Given the description of an element on the screen output the (x, y) to click on. 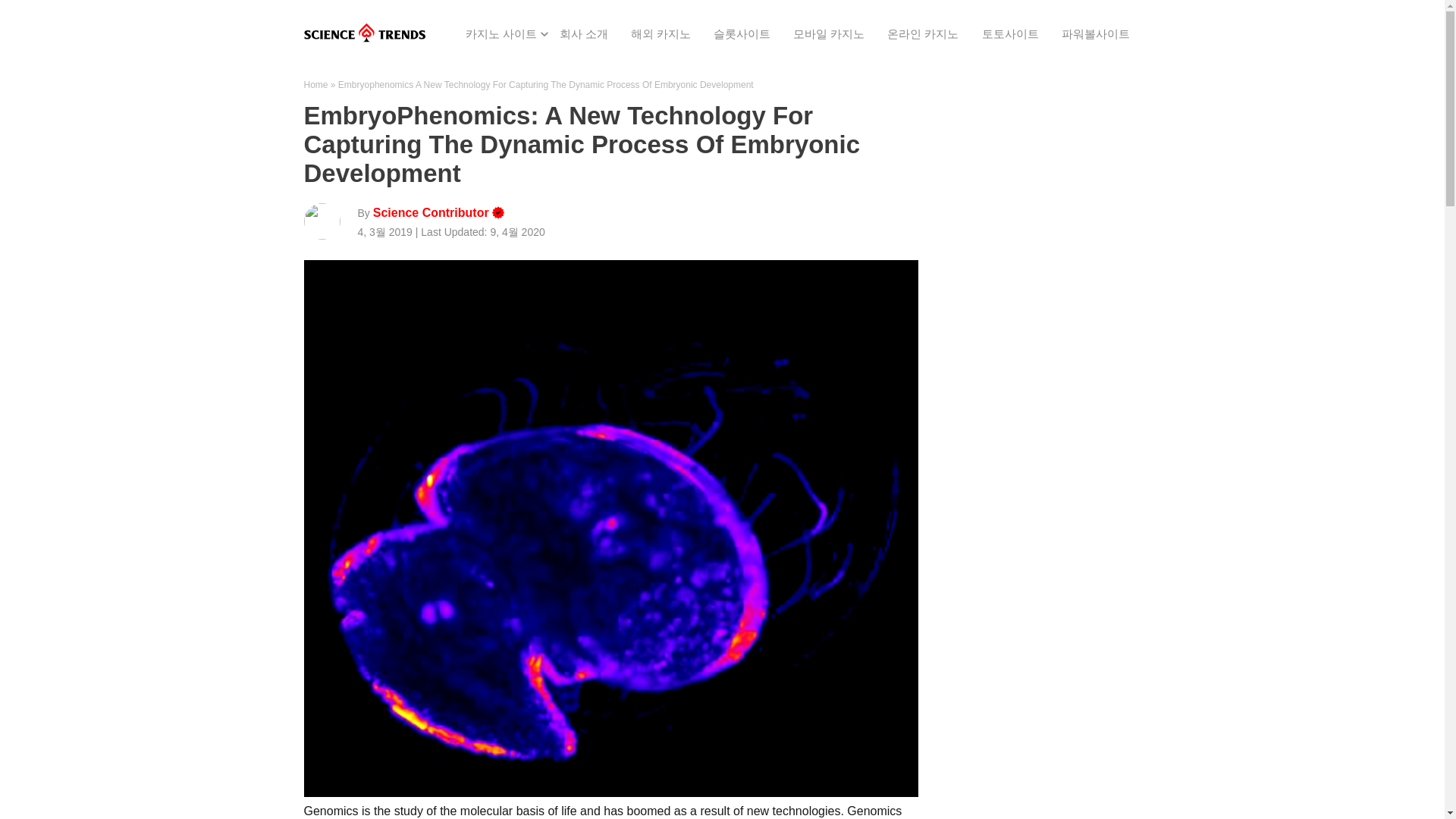
Science Contributor (430, 214)
Home (314, 84)
